Given the description of an element on the screen output the (x, y) to click on. 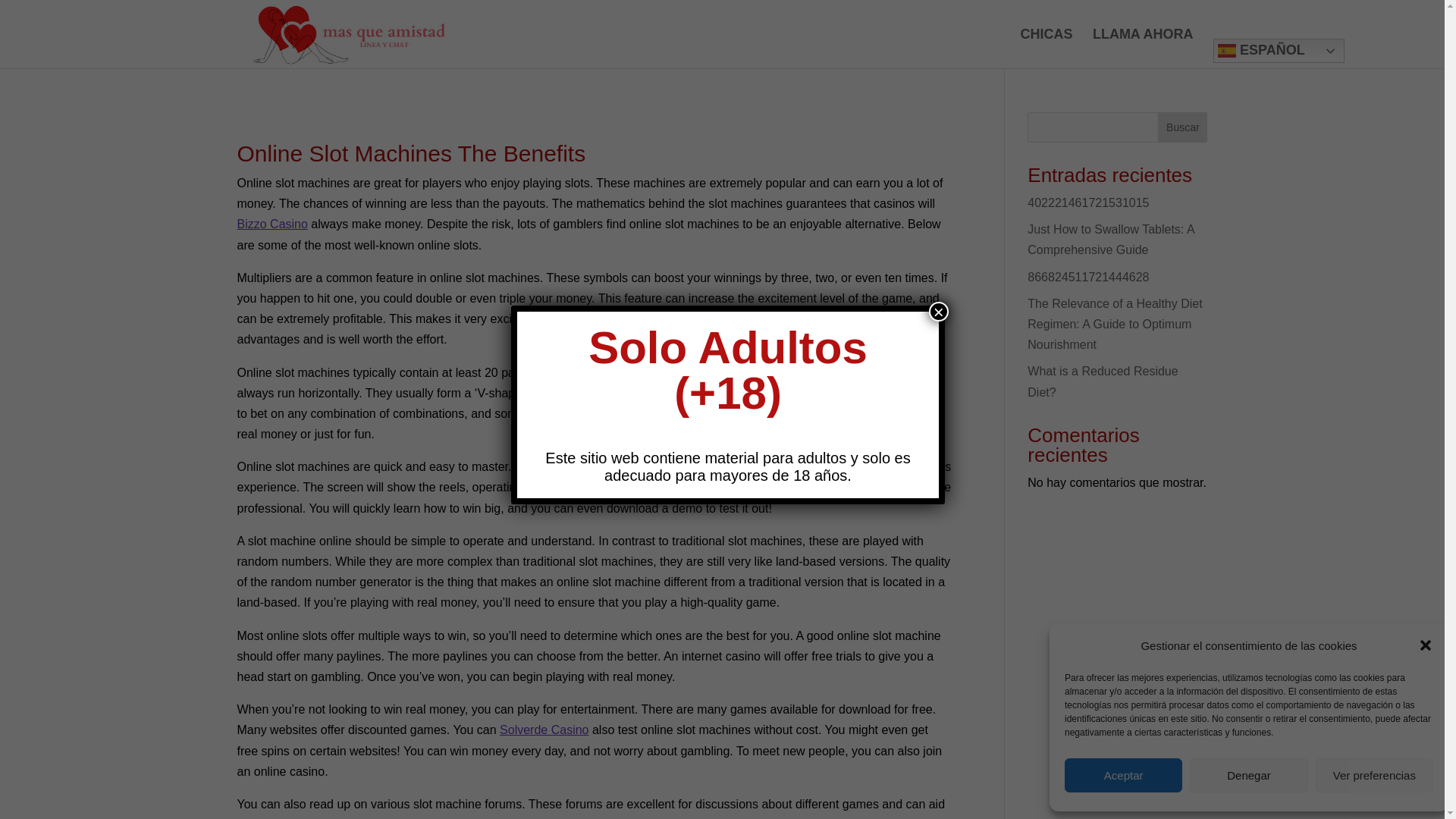
Buscar (1182, 127)
402221461721531015 (1087, 202)
LLAMA AHORA (1143, 47)
Bizzo Casino (271, 223)
What is a Reduced Residue Diet? (1102, 381)
Denegar (1248, 775)
Ver preferencias (1374, 775)
Aceptar (1123, 775)
866824511721444628 (1087, 277)
Just How to Swallow Tablets: A Comprehensive Guide (1110, 239)
CHICAS (1045, 47)
Solverde Casino (543, 729)
